Given the description of an element on the screen output the (x, y) to click on. 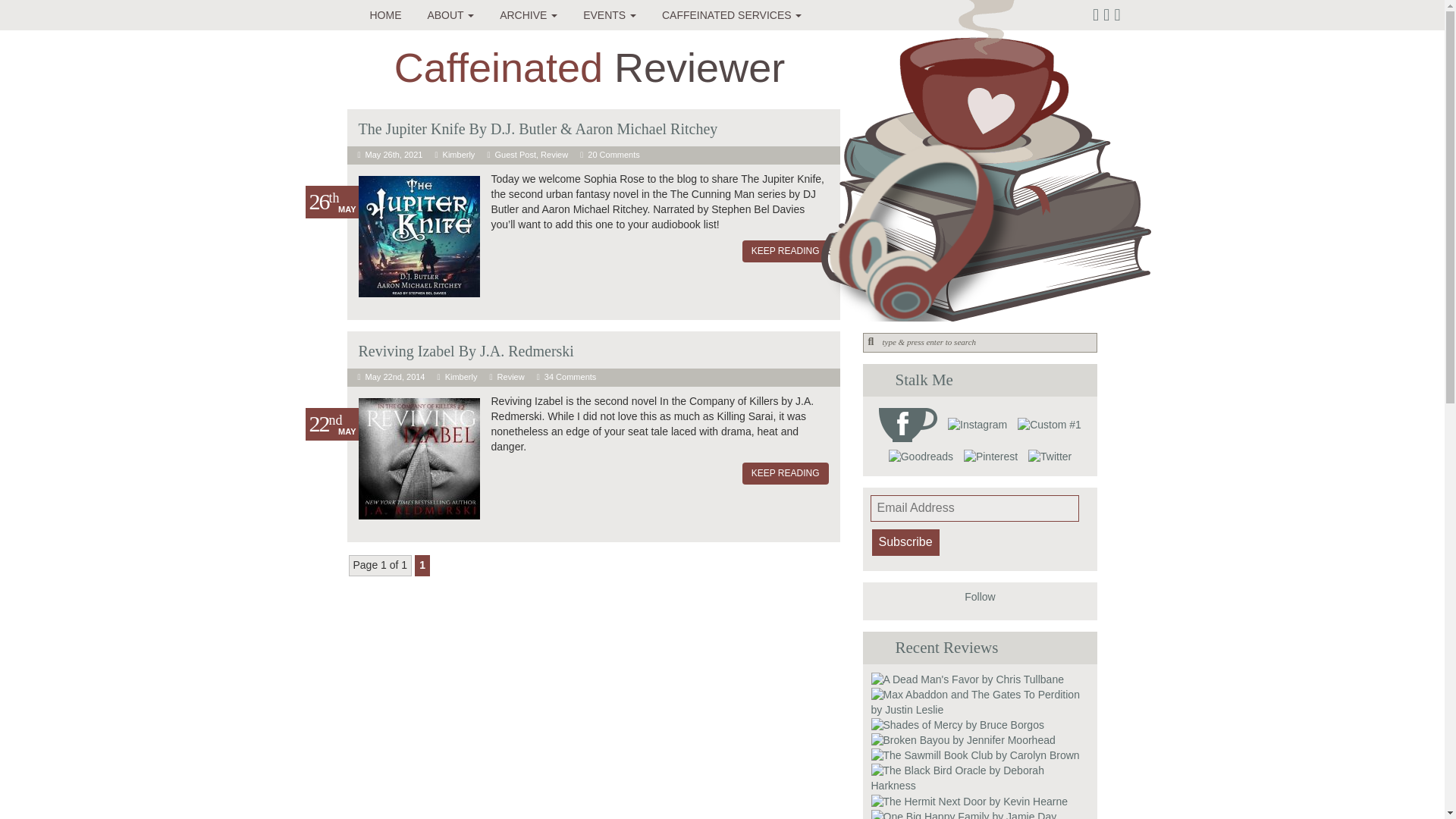
Reviving Izabel by J.A. Redmerski (465, 351)
EVENTS (609, 15)
Review (510, 376)
20 Comments (613, 153)
KEEP READING (785, 251)
Review (553, 153)
Reviving Izabel By J.A. Redmerski (465, 351)
Kimberly (461, 376)
ARCHIVE (528, 15)
ABOUT (449, 15)
Caffeinated Reviewer (589, 67)
Kimberly (459, 153)
Please fill in this field. (974, 508)
HOME (385, 15)
Guest Post (515, 153)
